Given the description of an element on the screen output the (x, y) to click on. 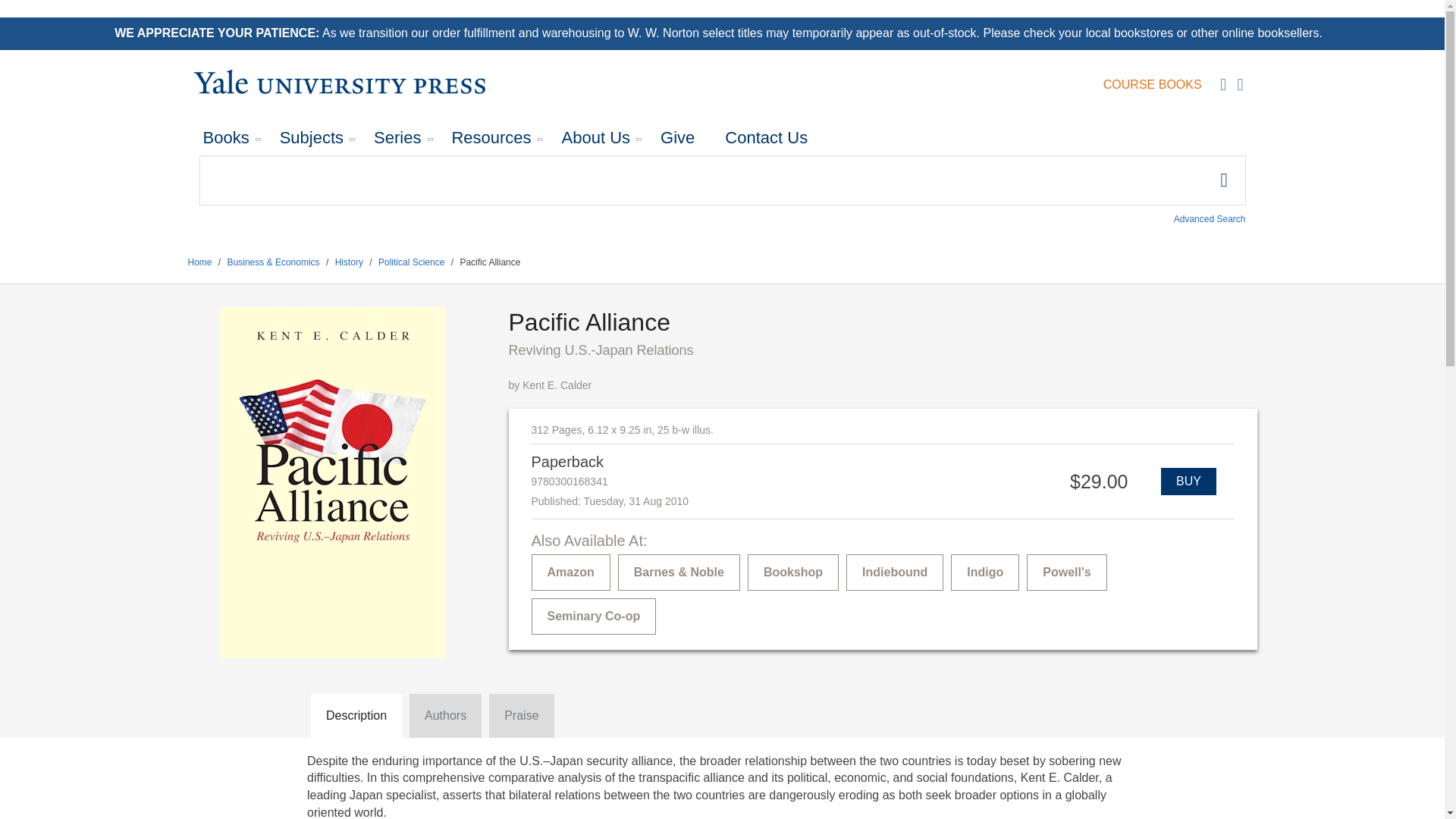
Indigo (984, 572)
View results for political science (411, 262)
Indiebound (894, 572)
Seminary Co-op (593, 616)
Amazon (570, 572)
View results for history (348, 262)
Bookshop (793, 572)
Books (225, 137)
Series (396, 137)
Powell's (1066, 572)
Back to homepage (199, 262)
: (721, 180)
Subjects (311, 137)
Course Books Page (1152, 85)
COURSE BOOKS (1152, 85)
